Given the description of an element on the screen output the (x, y) to click on. 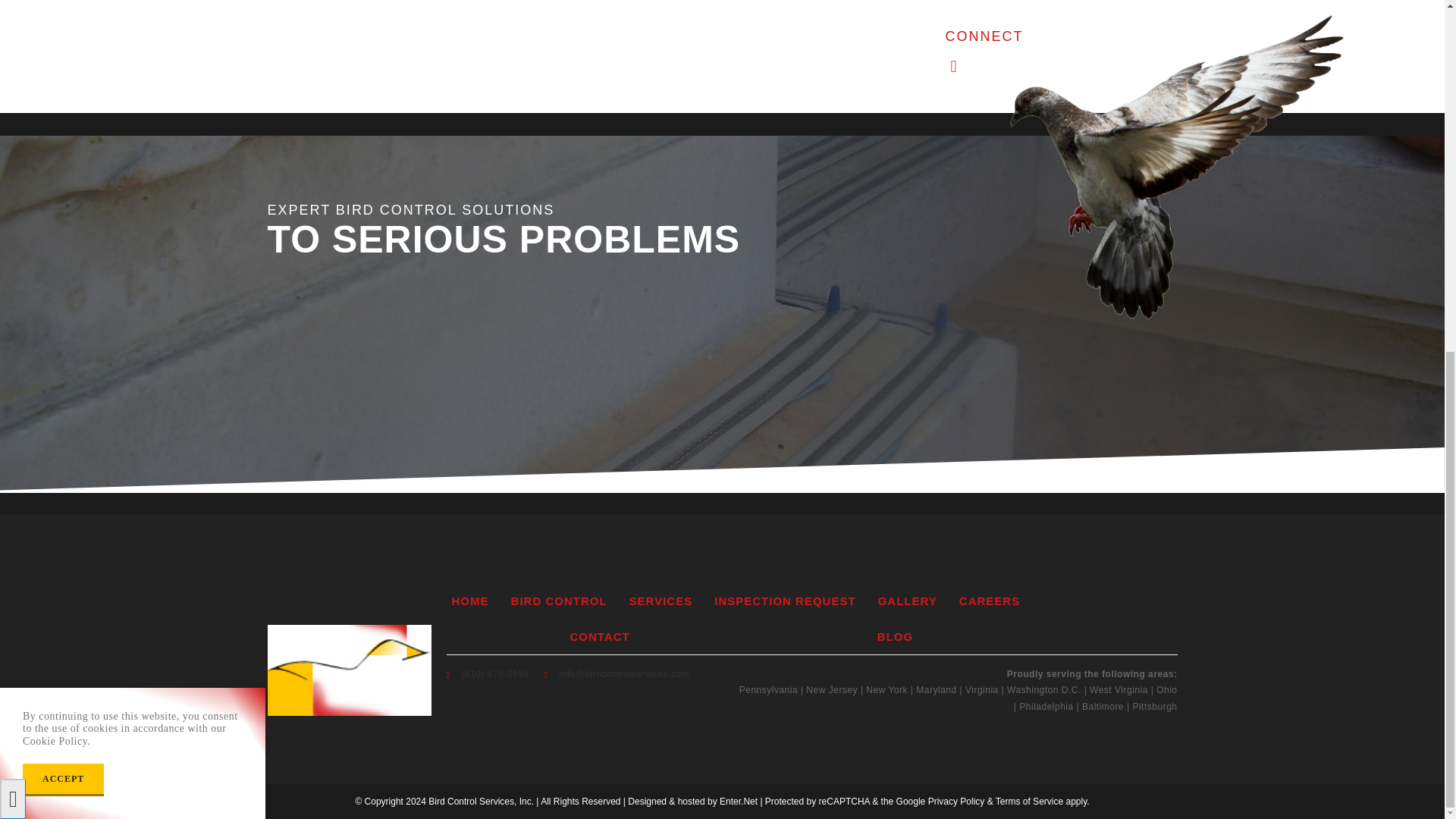
HOME (469, 601)
CAREERS (989, 601)
Terms of Service (1028, 801)
BIRD CONTROL (558, 601)
GALLERY (907, 601)
SERVICES (661, 601)
Enter.Net (738, 801)
BLOG (894, 636)
INSPECTION REQUEST (784, 601)
CONTACT (599, 636)
Privacy Policy (956, 801)
